Given the description of an element on the screen output the (x, y) to click on. 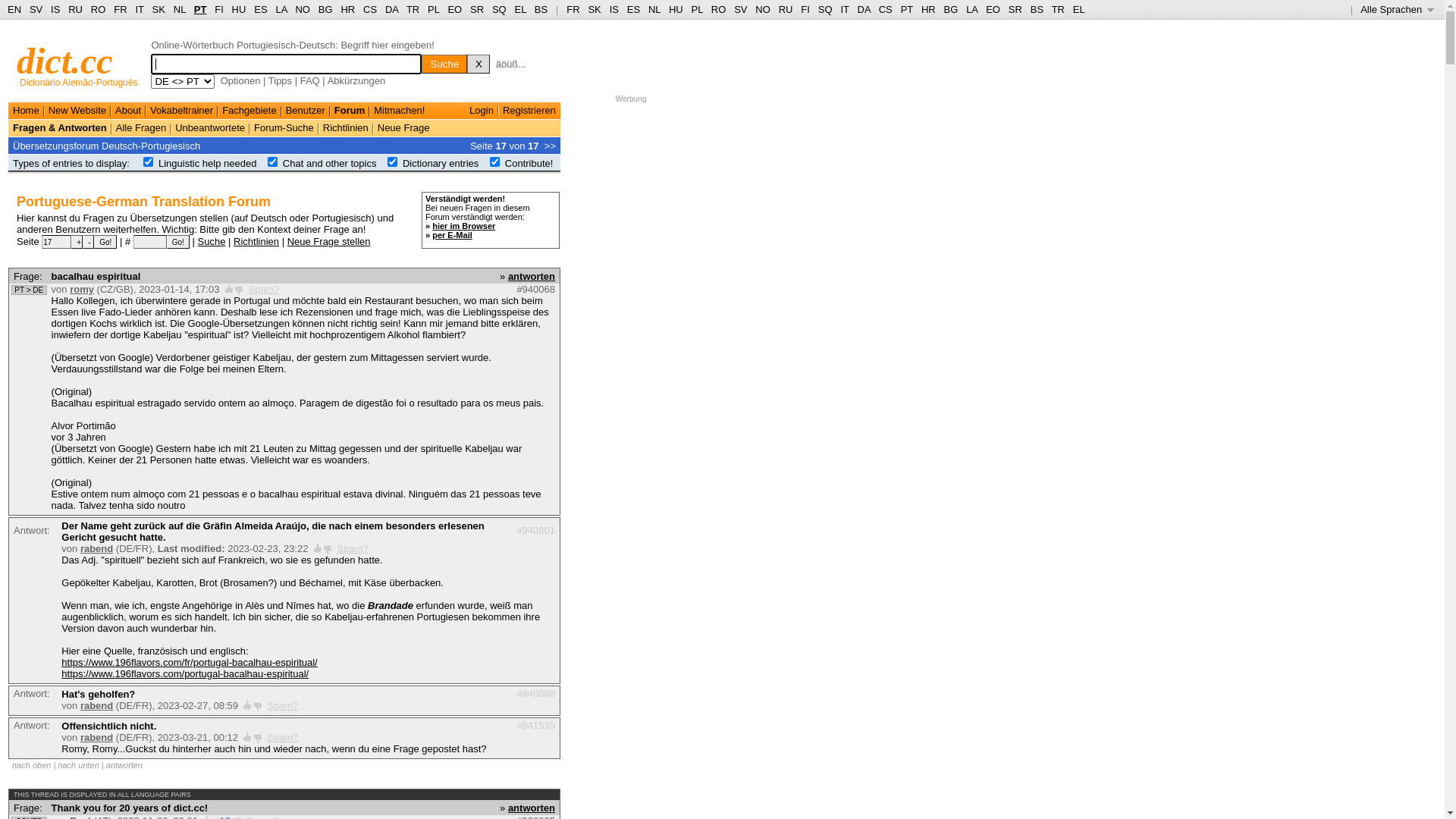
Suche Element type: text (444, 63)
SV Element type: text (740, 9)
Fachgebiete Element type: text (249, 110)
PL Element type: text (696, 9)
ES Element type: text (260, 9)
Alle Sprachen  Element type: text (1397, 9)
#941535 Element type: text (535, 724)
Chat and other topics Element type: text (329, 163)
antworten Element type: text (531, 807)
SK Element type: text (158, 9)
on Element type: text (148, 161)
IS Element type: text (613, 9)
IS Element type: text (54, 9)
Dictionary entries Element type: text (440, 163)
Suche Element type: text (211, 240)
Benutzer Element type: text (305, 110)
on Element type: text (494, 161)
SR Element type: text (1015, 9)
HU Element type: text (675, 9)
PL Element type: text (433, 9)
Go! Element type: text (177, 241)
BS Element type: text (540, 9)
NL Element type: text (654, 9)
RO Element type: text (718, 9)
Tipps Element type: text (279, 80)
EN Element type: text (14, 9)
Alle Fragen Element type: text (141, 127)
PT Element type: text (200, 9)
SQ Element type: text (499, 9)
Fragen & Antworten Element type: text (59, 127)
HR Element type: text (347, 9)
HU Element type: text (239, 9)
New Website Element type: text (77, 110)
PT > DE Element type: text (28, 289)
BG Element type: text (325, 9)
Richtlinien Element type: text (345, 127)
rabend Element type: text (96, 737)
Richtlinien Element type: text (256, 240)
Forum-Suche Element type: text (283, 127)
Portuguese-German Translation Forum Element type: text (143, 201)
Spam? Element type: text (282, 737)
Contribute! Element type: text (529, 163)
RU Element type: text (75, 9)
EL Element type: text (1079, 9)
About Element type: text (128, 110)
CS Element type: text (885, 9)
NO Element type: text (762, 9)
ES Element type: text (633, 9)
Spam? Element type: text (263, 288)
Go! Element type: text (105, 241)
#940068 Element type: text (535, 288)
Neue Frage Element type: text (403, 127)
FAQ Element type: text (310, 80)
romy Element type: text (81, 288)
Registrieren Element type: text (528, 110)
DA Element type: text (391, 9)
#940888 Element type: text (535, 692)
antworten Element type: text (124, 764)
DA Element type: text (863, 9)
FR Element type: text (572, 9)
LA Element type: text (280, 9)
antworten Element type: text (531, 275)
EL Element type: text (520, 9)
Mitmachen! Element type: text (398, 110)
nach unten Element type: text (77, 764)
on Element type: text (392, 161)
FR Element type: text (119, 9)
SV Element type: text (35, 9)
on Element type: text (272, 161)
Login Element type: text (481, 110)
TR Element type: text (412, 9)
Vokabeltrainer Element type: text (181, 110)
SK Element type: text (593, 9)
FI Element type: text (218, 9)
nach oben Element type: text (31, 764)
IT Element type: text (138, 9)
Spam? Element type: text (282, 705)
https://www.196flavors.com/portugal-bacalhau-espiritual/ Element type: text (184, 673)
PT Element type: text (906, 9)
Spam? Element type: text (352, 548)
BS Element type: text (1036, 9)
NO Element type: text (302, 9)
Forum Element type: text (349, 110)
LA Element type: text (971, 9)
Linguistic help needed Element type: text (207, 163)
EO Element type: text (454, 9)
BG Element type: text (950, 9)
FI Element type: text (804, 9)
RU Element type: text (785, 9)
TR Element type: text (1057, 9)
https://www.196flavors.com/fr/portugal-bacalhau-espiritual/ Element type: text (188, 662)
Home Element type: text (25, 110)
X Element type: text (478, 63)
Optionen Element type: text (240, 80)
CS Element type: text (369, 9)
IT Element type: text (844, 9)
NL Element type: text (179, 9)
SQ Element type: text (825, 9)
#940801 Element type: text (535, 530)
dict.cc Element type: text (64, 60)
EO Element type: text (992, 9)
SR Element type: text (476, 9)
rabend Element type: text (96, 705)
HR Element type: text (928, 9)
RO Element type: text (98, 9)
rabend Element type: text (96, 548)
Neue Frage stellen Element type: text (328, 240)
Unbeantwortete Element type: text (209, 127)
>> Element type: text (549, 144)
